Given the description of an element on the screen output the (x, y) to click on. 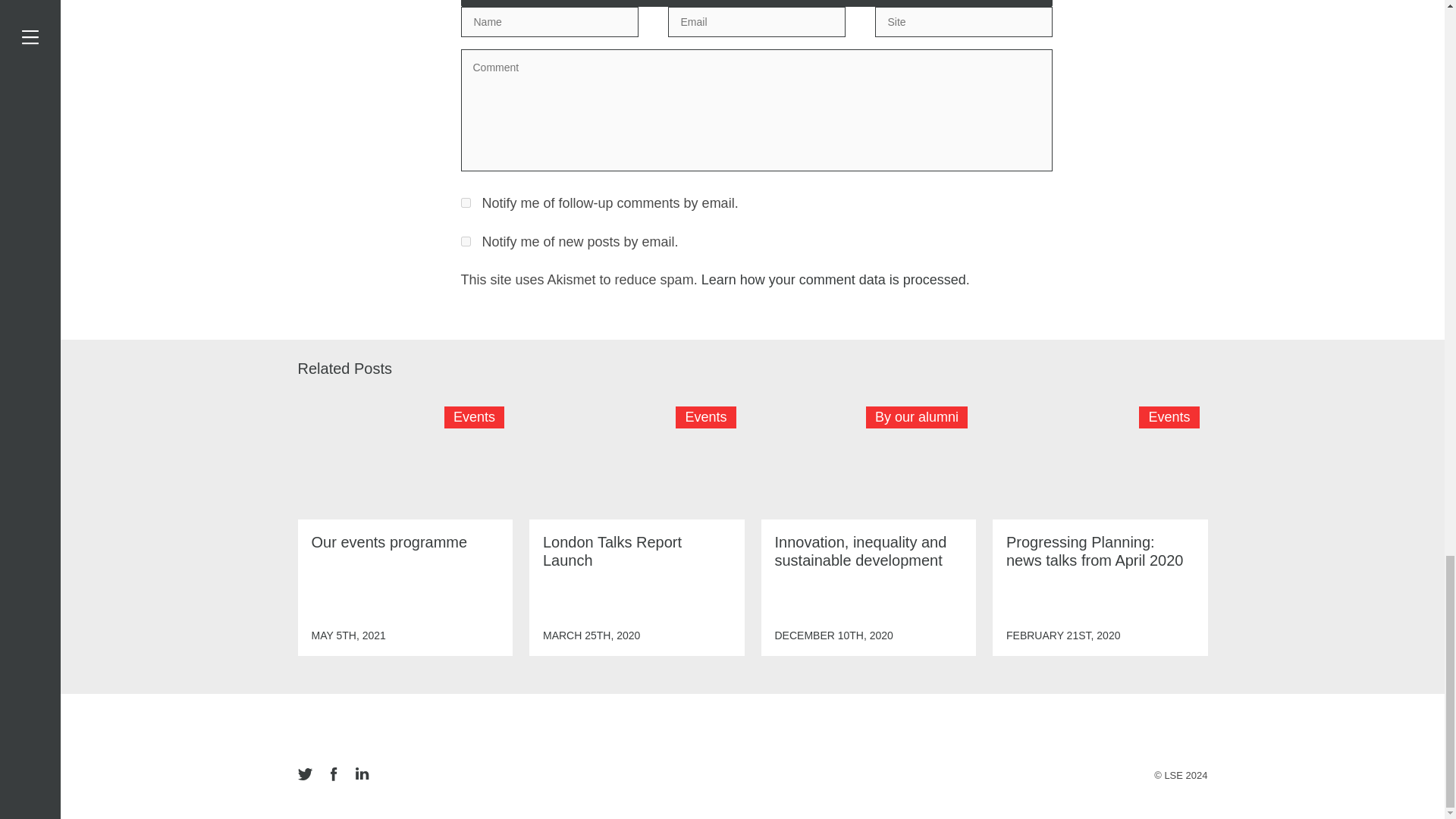
linkedin (361, 774)
Learn how your comment data is processed (833, 279)
subscribe (465, 241)
subscribe (465, 203)
